Given the description of an element on the screen output the (x, y) to click on. 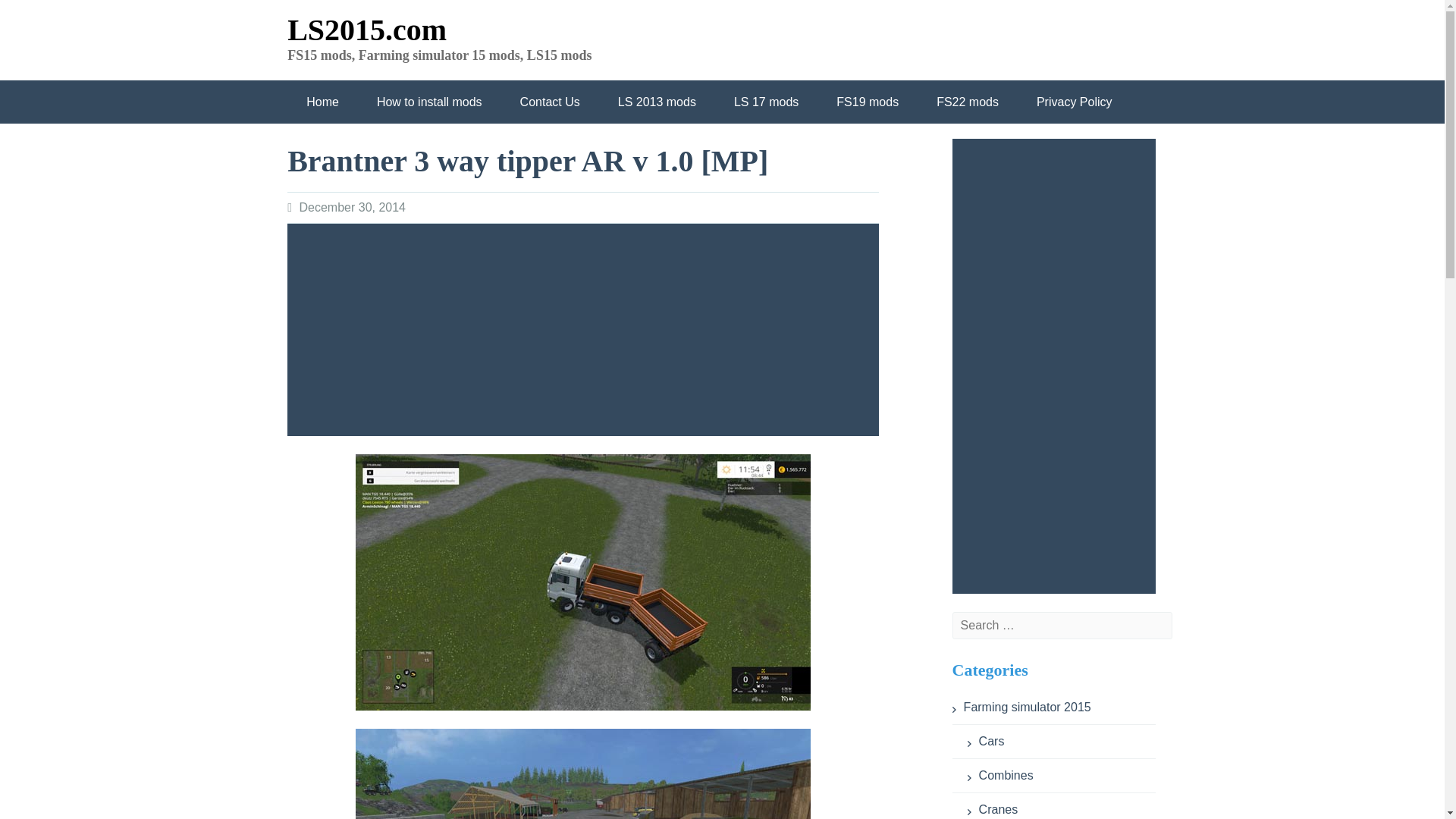
December 30, 2014 (352, 206)
Contact Us (549, 101)
Advertisement (586, 329)
FS22 mods (967, 101)
Cars (986, 740)
Contact Us (549, 101)
LS2015.com (366, 29)
How to install mods (429, 101)
Cranes (992, 809)
Farming simulator 2013 mods (656, 101)
Home (322, 101)
LS 2013 mods (656, 101)
Search (443, 9)
Privacy Policy (1074, 101)
FS19 mods (866, 101)
